Given the description of an element on the screen output the (x, y) to click on. 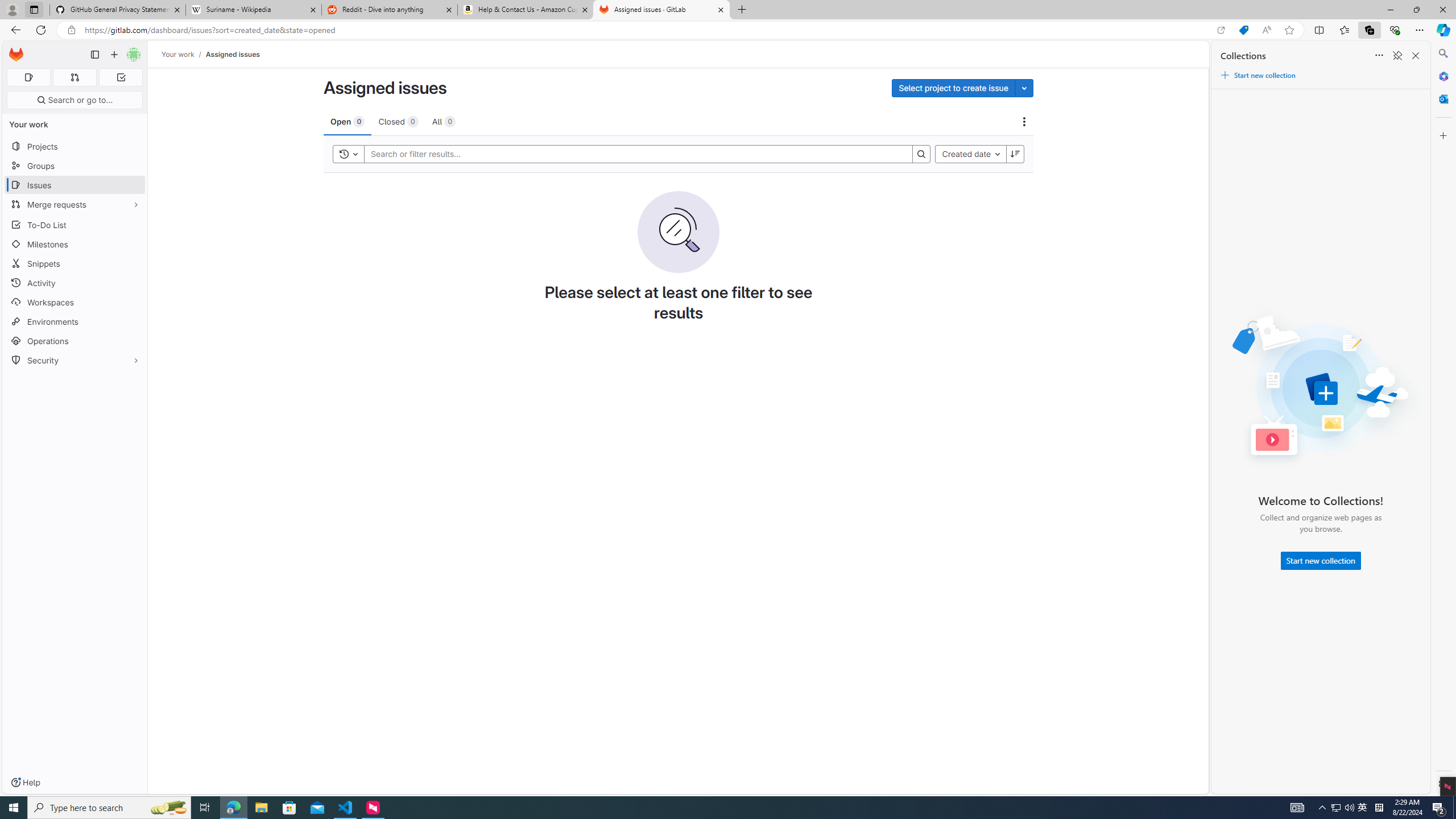
Open 0 (347, 121)
Assigned issues (232, 53)
Merge requests (74, 203)
Snippets (74, 262)
Reddit - Dive into anything (390, 9)
Security (74, 359)
All 0 (444, 121)
Snippets (74, 262)
To-Do List (74, 224)
